Given the description of an element on the screen output the (x, y) to click on. 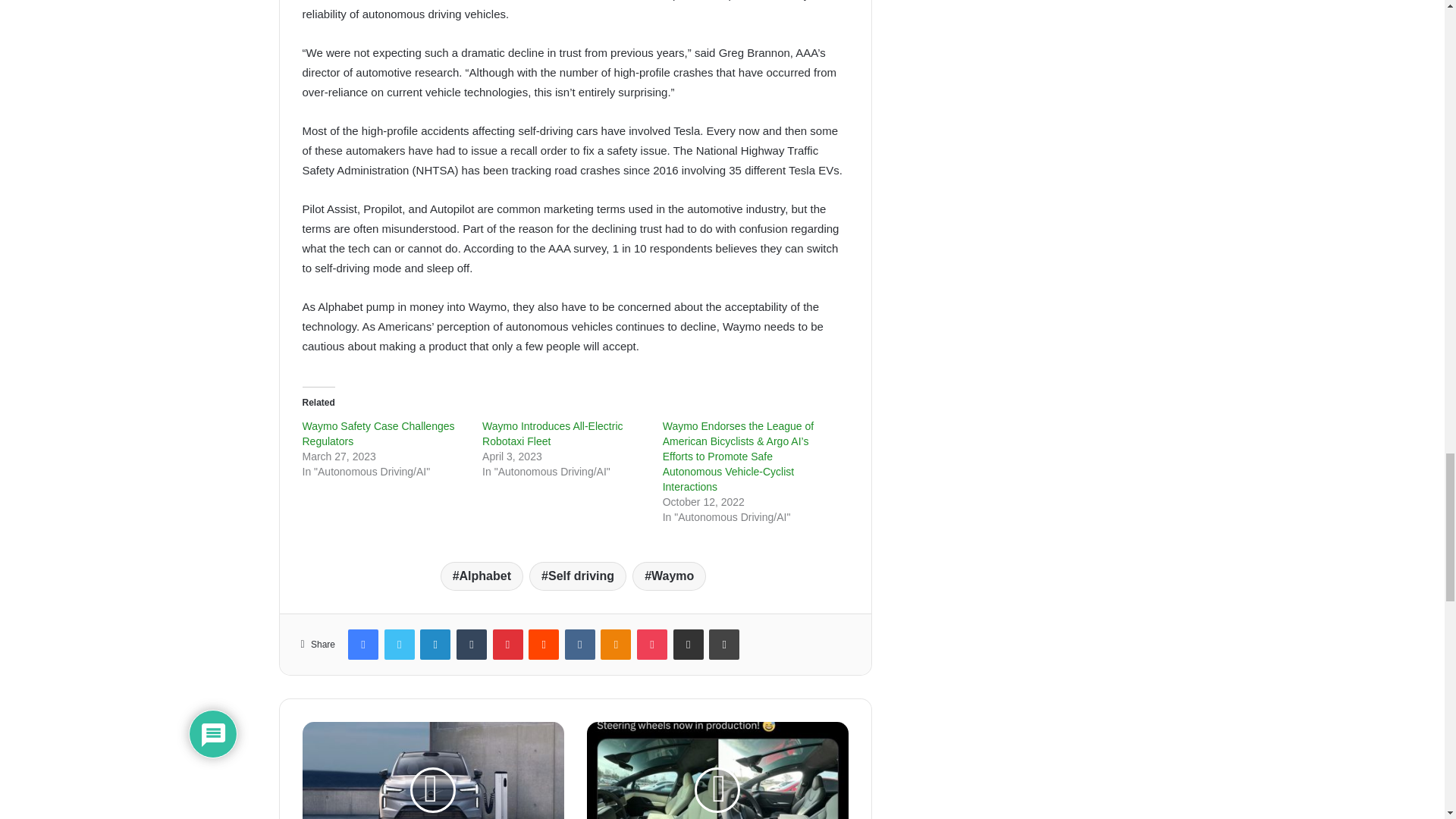
Waymo Safety Case Challenges Regulators (377, 433)
Alphabet (481, 575)
Waymo Safety Case Challenges Regulators (377, 433)
Waymo Introduces All-Electric Robotaxi Fleet (552, 433)
Waymo Introduces All-Electric Robotaxi Fleet (552, 433)
